Given the description of an element on the screen output the (x, y) to click on. 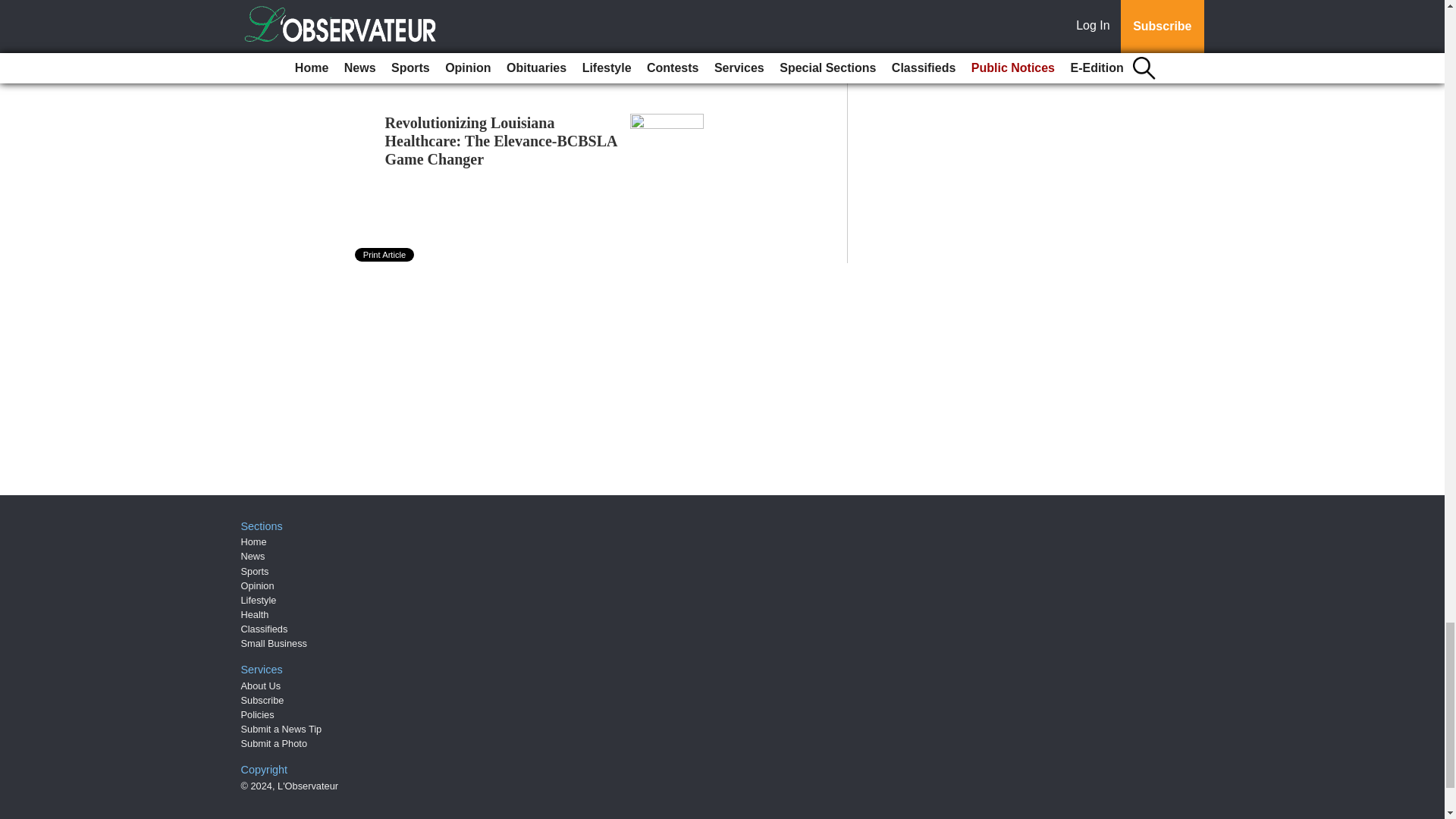
Print Article (384, 254)
